Given the description of an element on the screen output the (x, y) to click on. 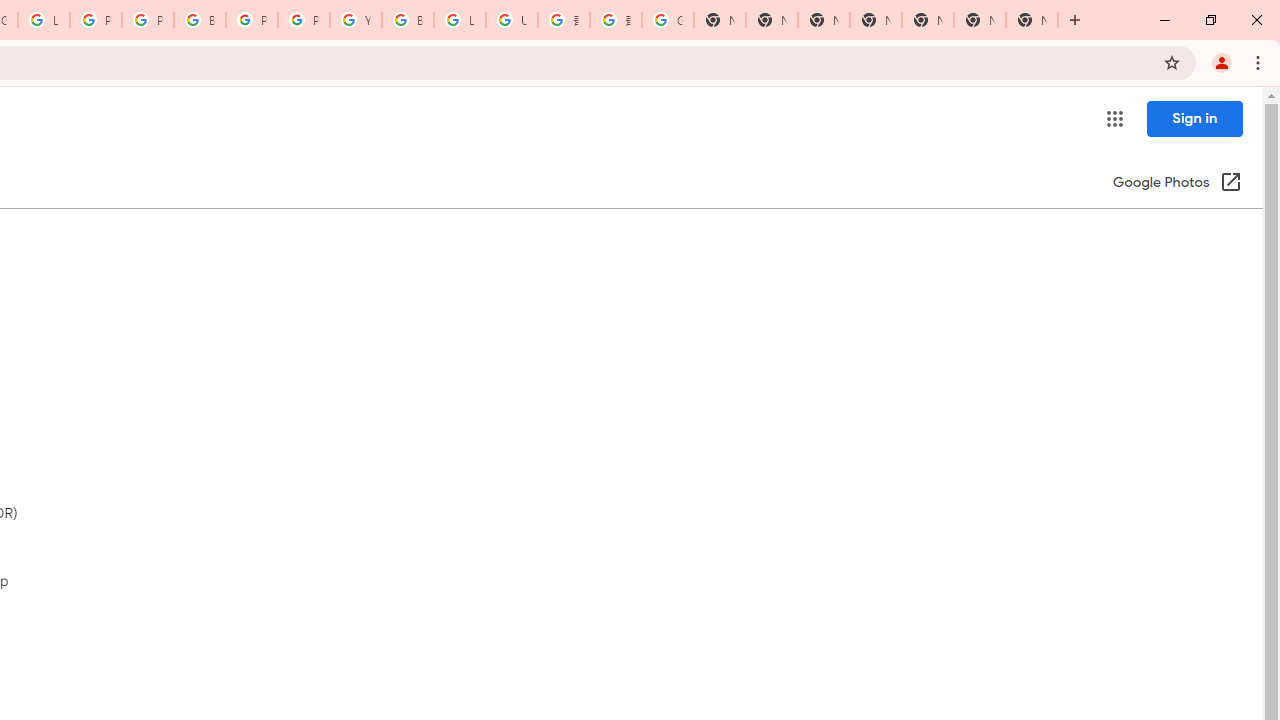
YouTube (355, 20)
Privacy Help Center - Policies Help (95, 20)
